Given the description of an element on the screen output the (x, y) to click on. 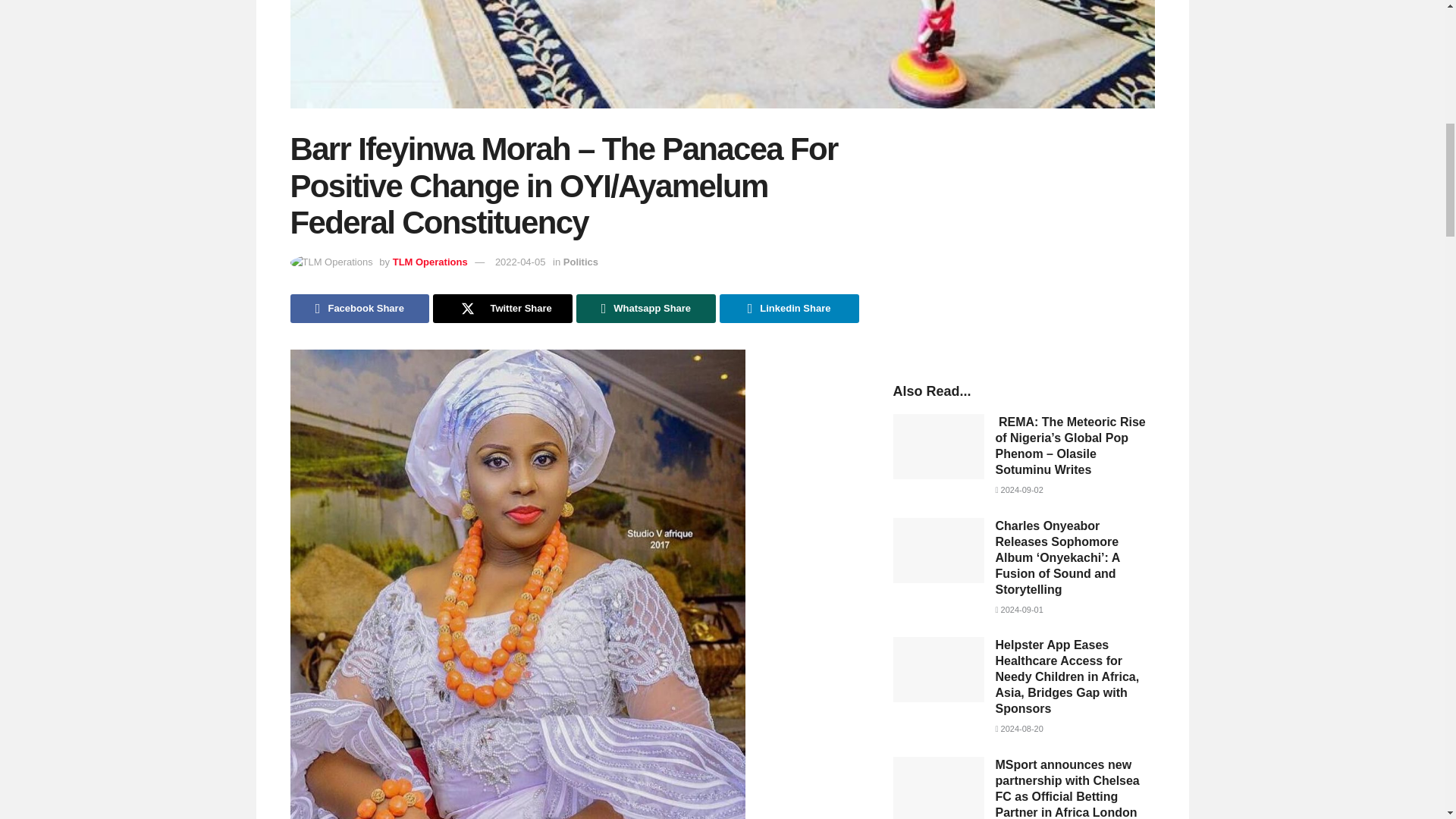
Facebook Share (359, 308)
Twitter Share (502, 308)
Linkedin Share (789, 308)
Whatsapp Share (646, 308)
2022-04-05 (520, 261)
Advertisement (1023, 240)
Politics (580, 261)
TLM Operations (430, 261)
